Given the description of an element on the screen output the (x, y) to click on. 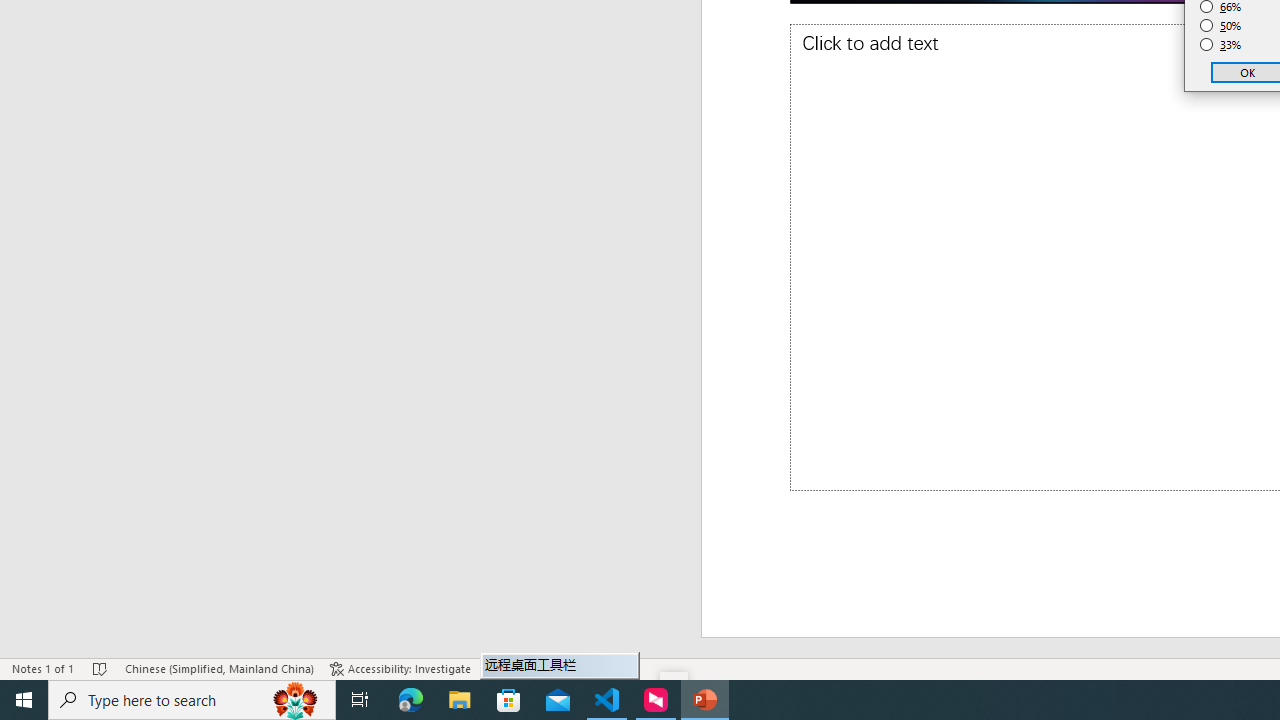
50% (1221, 25)
33% (1221, 44)
